Given the description of an element on the screen output the (x, y) to click on. 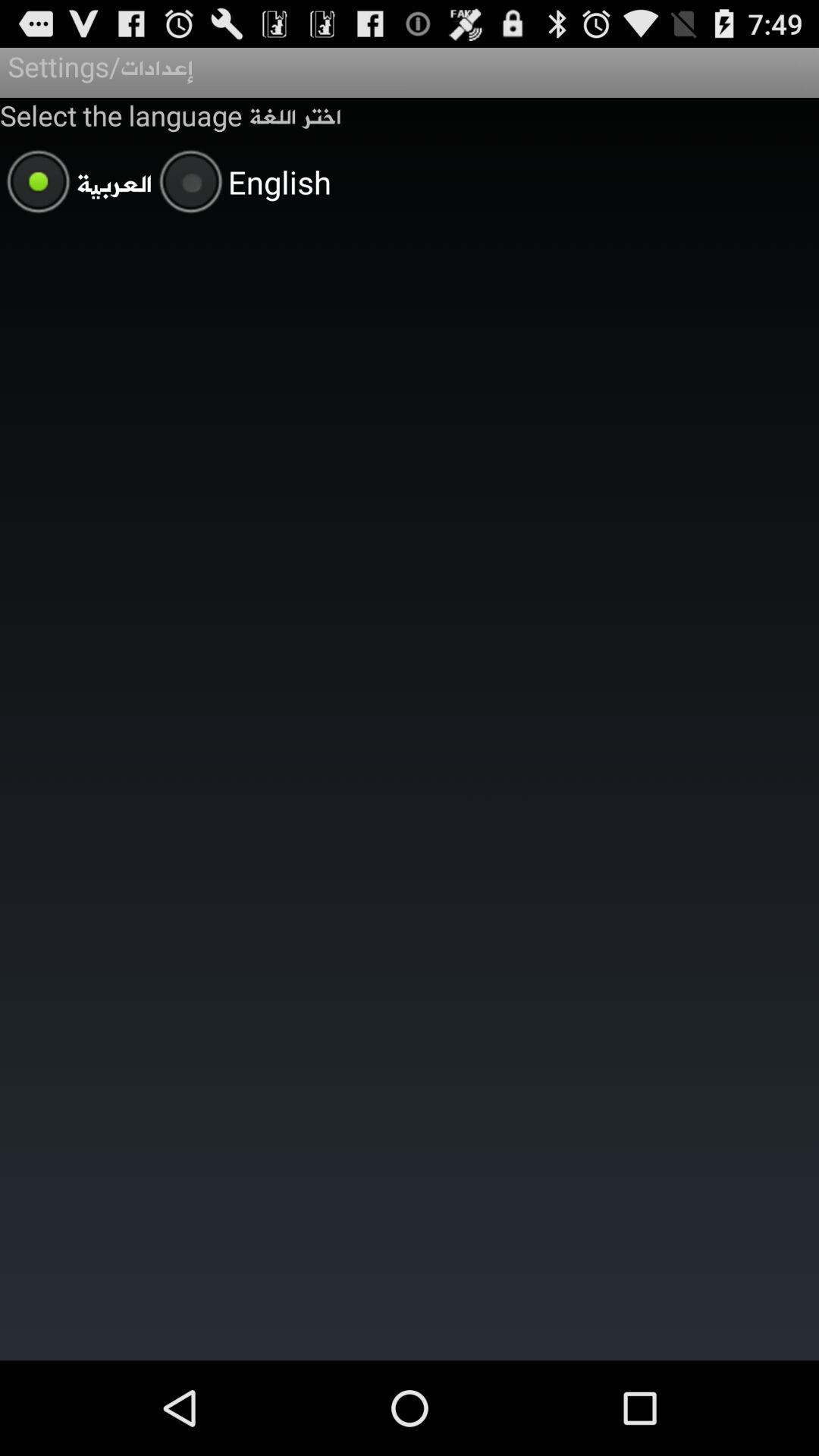
launch item to the left of english icon (76, 184)
